Given the description of an element on the screen output the (x, y) to click on. 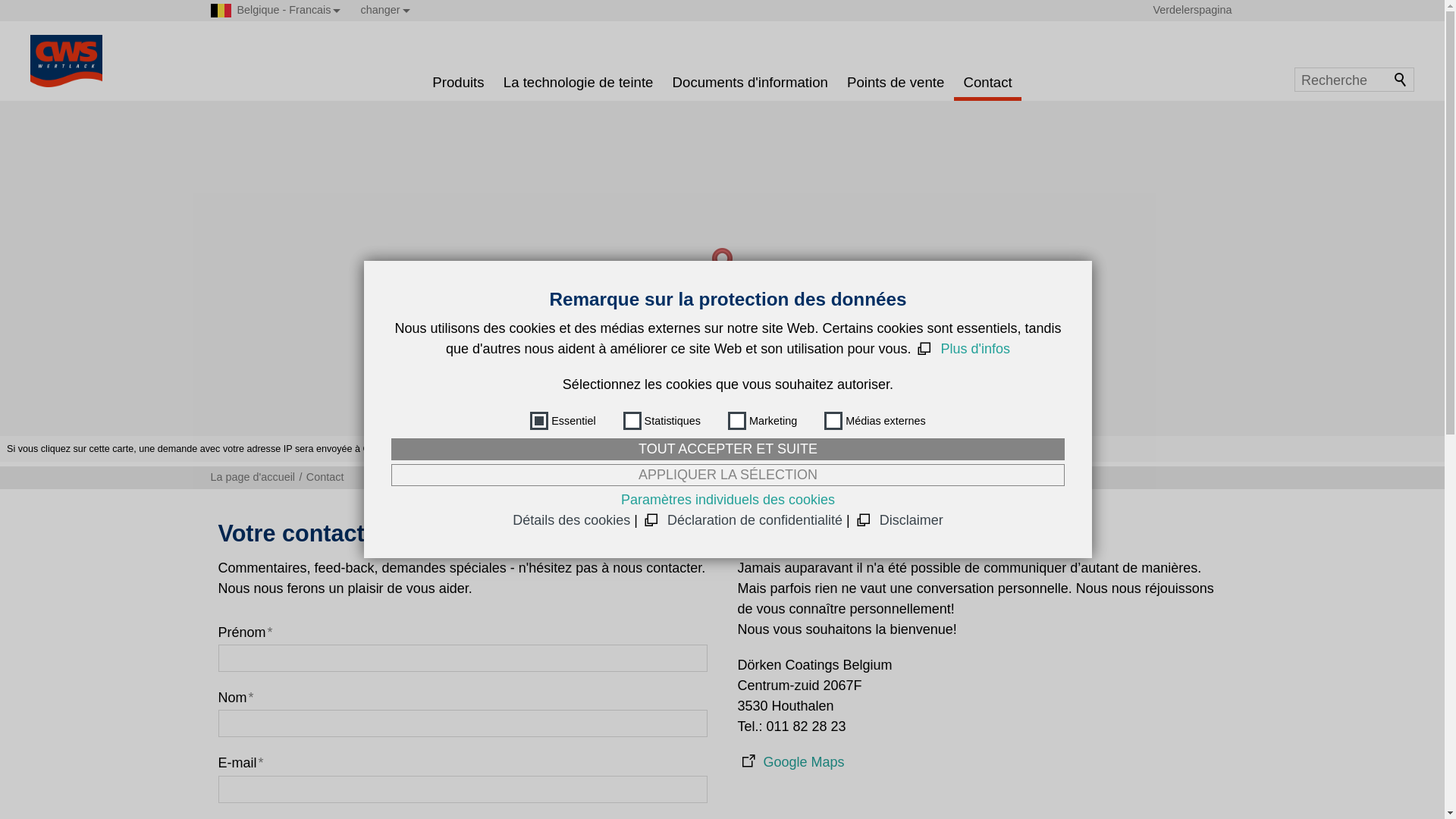
Points de vente Element type: text (895, 80)
Belgique - Francais Element type: hover (220, 10)
Plus d'infos Element type: text (962, 348)
1 Element type: text (1037, 685)
RECHERCHER Element type: text (1401, 80)
Disclaimer Element type: text (898, 519)
Documents d'information Element type: text (749, 80)
Google Maps Element type: text (790, 762)
Contact Element type: text (322, 476)
Verdelerspagina Element type: text (1191, 9)
La page d'accueil Element type: text (254, 476)
Contact Element type: text (987, 80)
1 Element type: text (539, 420)
Produits Element type: text (458, 80)
La technologie de teinte Element type: text (577, 80)
TOUT ACCEPTER ET SUITE Element type: text (727, 449)
